Given the description of an element on the screen output the (x, y) to click on. 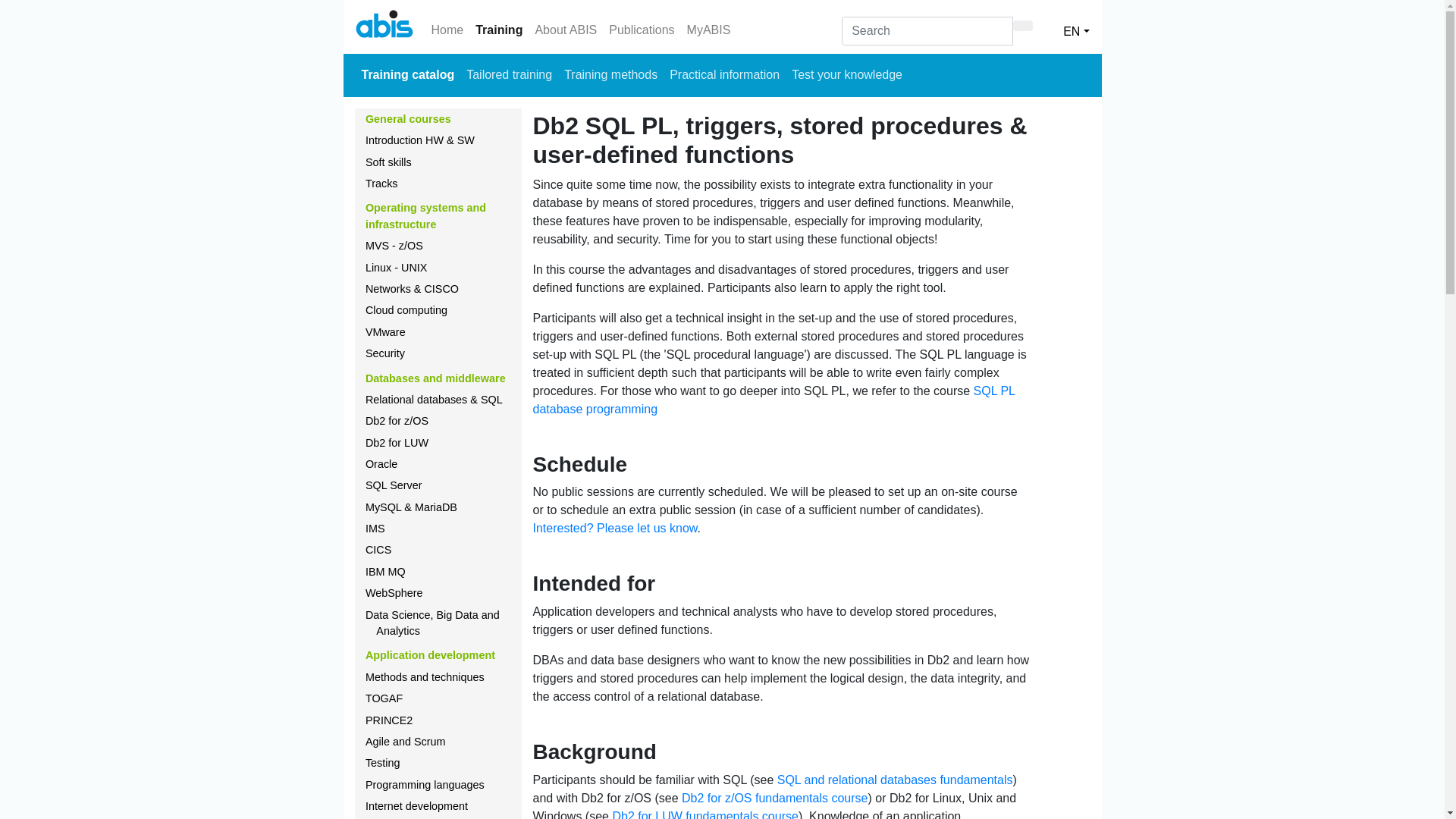
Home Element type: text (446, 30)
SQL PL database programming Element type: text (773, 399)
VMware Element type: text (385, 332)
Db2 for z/OS Element type: text (396, 420)
Networks & CISCO Element type: text (411, 288)
About ABIS Element type: text (565, 30)
CICS Element type: text (378, 549)
Tracks Element type: text (381, 183)
WebSphere Element type: text (394, 592)
IMS Element type: text (375, 528)
Db2 for z/OS fundamentals course Element type: text (774, 797)
Training methods Element type: text (610, 74)
MVS - z/OS Element type: text (394, 245)
TOGAF Element type: text (383, 698)
Programming languages Element type: text (424, 784)
Publications Element type: text (641, 30)
Methods and techniques Element type: text (424, 677)
EN Element type: text (1075, 27)
Relational databases & SQL Element type: text (433, 399)
Agile and Scrum Element type: text (405, 741)
Linux - UNIX Element type: text (396, 267)
Training catalog
(current) Element type: text (407, 74)
Interested? Please let us know Element type: text (614, 527)
Db2 for LUW Element type: text (396, 442)
SQL Server Element type: text (393, 485)
SQL and relational databases fundamentals Element type: text (895, 779)
Training
(current) Element type: text (498, 30)
Data Science, Big Data and Analytics Element type: text (432, 622)
IBM MQ Element type: text (385, 571)
Tailored training Element type: text (509, 74)
Oracle Element type: text (381, 464)
PRINCE2 Element type: text (388, 720)
Soft skills Element type: text (388, 162)
Practical information Element type: text (724, 74)
MySQL & MariaDB Element type: text (411, 507)
Security Element type: text (384, 353)
MyABIS Element type: text (708, 30)
Internet development Element type: text (416, 806)
Cloud computing Element type: text (406, 310)
Testing Element type: text (382, 762)
Introduction HW & SW Element type: text (419, 140)
Test your knowledge Element type: text (846, 74)
